Given the description of an element on the screen output the (x, y) to click on. 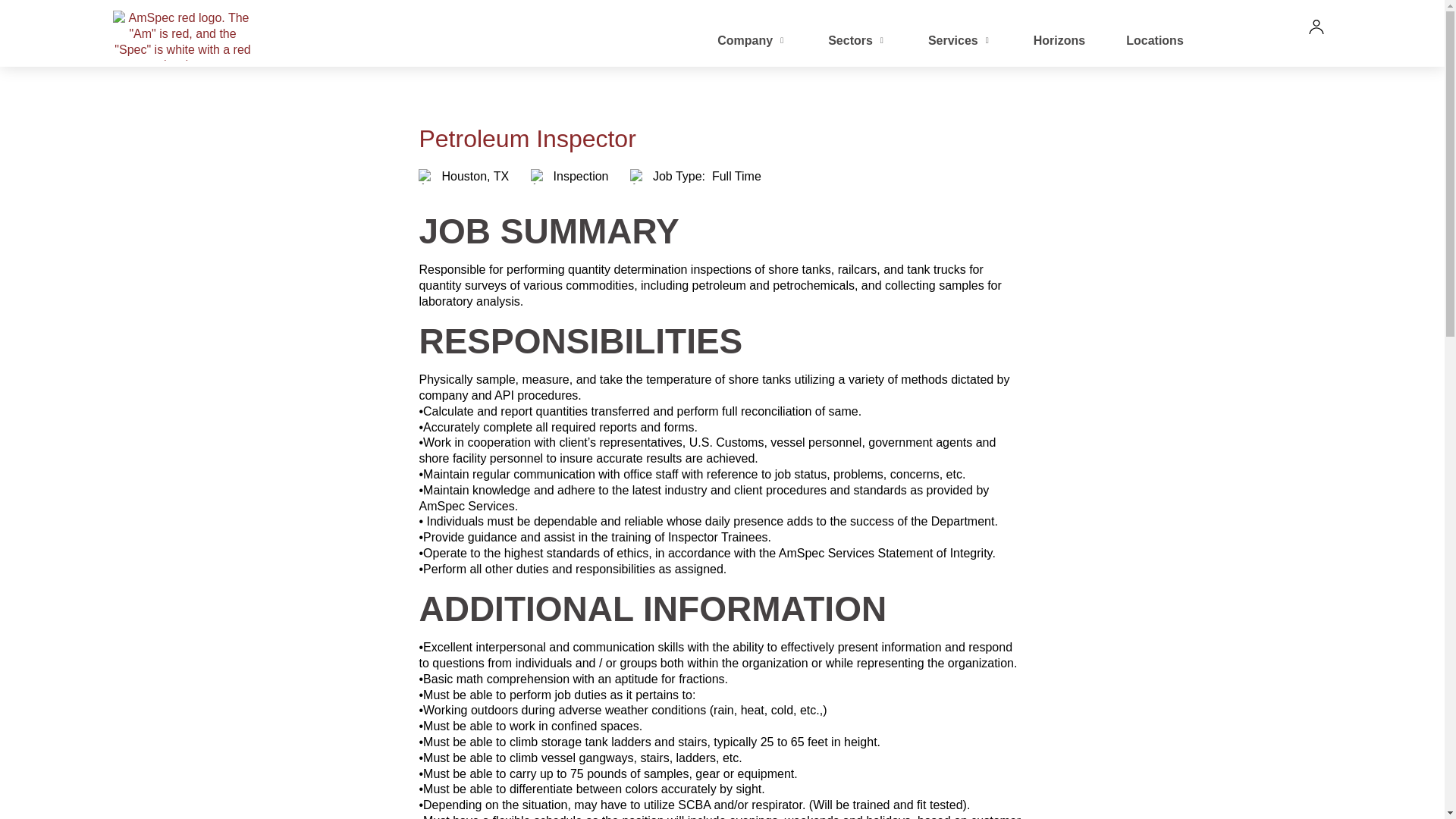
Amspec Petroleum Inspector 3 (638, 176)
Amspec Petroleum Inspector 1 (427, 176)
Amspec Petroleum Inspector 2 (539, 176)
Sectors (857, 49)
Company (752, 49)
